Given the description of an element on the screen output the (x, y) to click on. 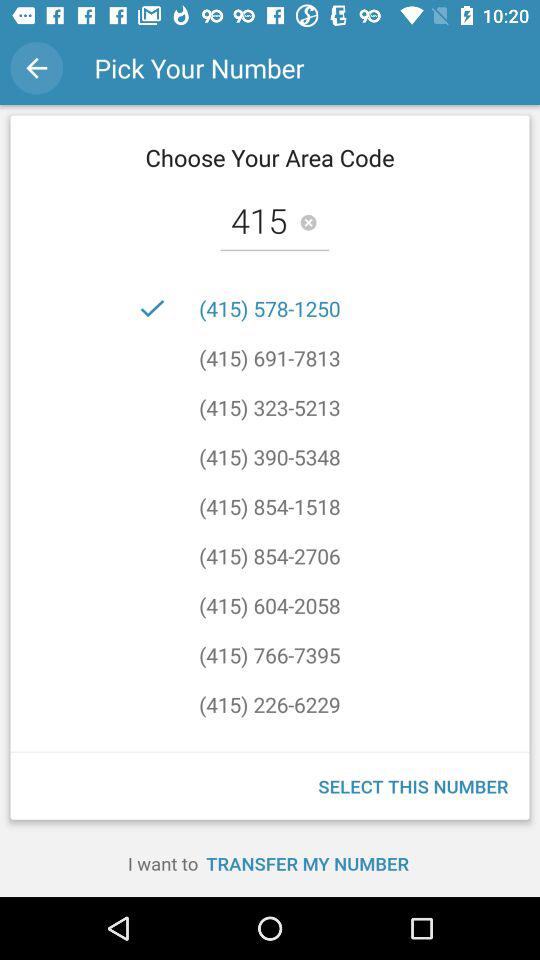
swipe until the (415) 578-1250 item (269, 308)
